Given the description of an element on the screen output the (x, y) to click on. 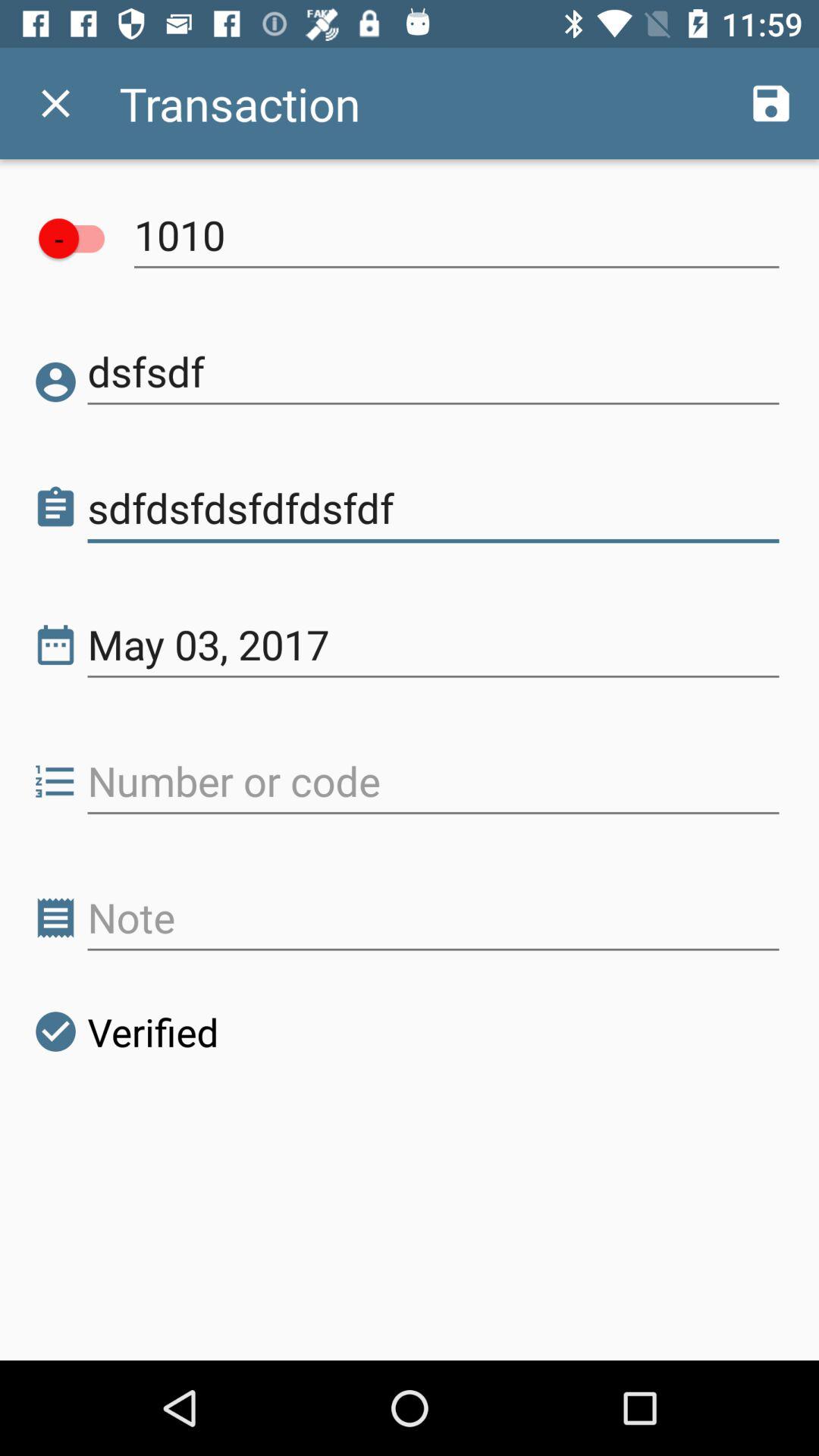
switch option off (78, 238)
